Given the description of an element on the screen output the (x, y) to click on. 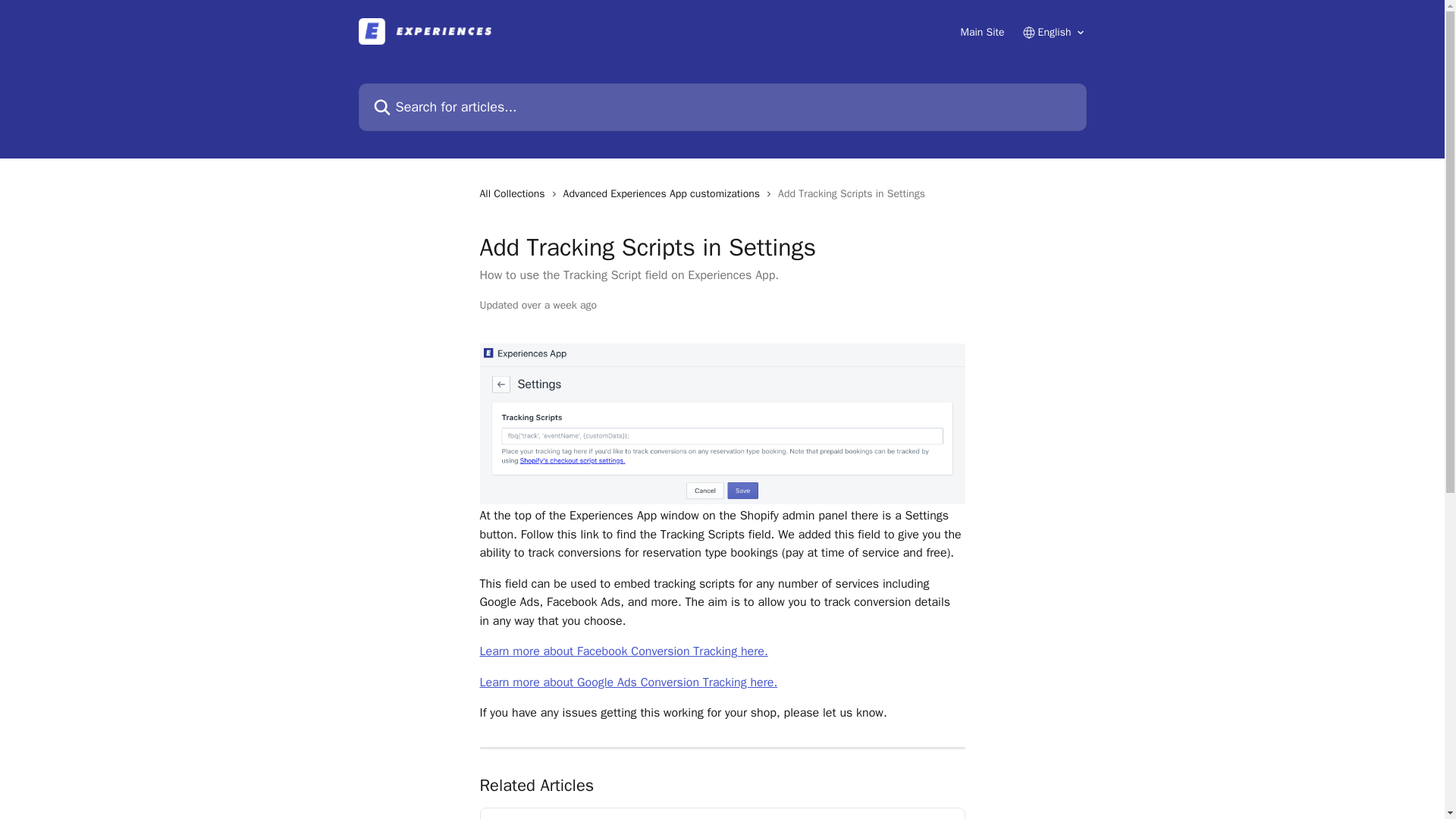
Learn more about Facebook Conversion Tracking here. (623, 651)
Main Site (981, 32)
All Collections (514, 193)
Advanced Experiences App customizations (664, 193)
Learn more about Google Ads Conversion Tracking here. (628, 682)
